Given the description of an element on the screen output the (x, y) to click on. 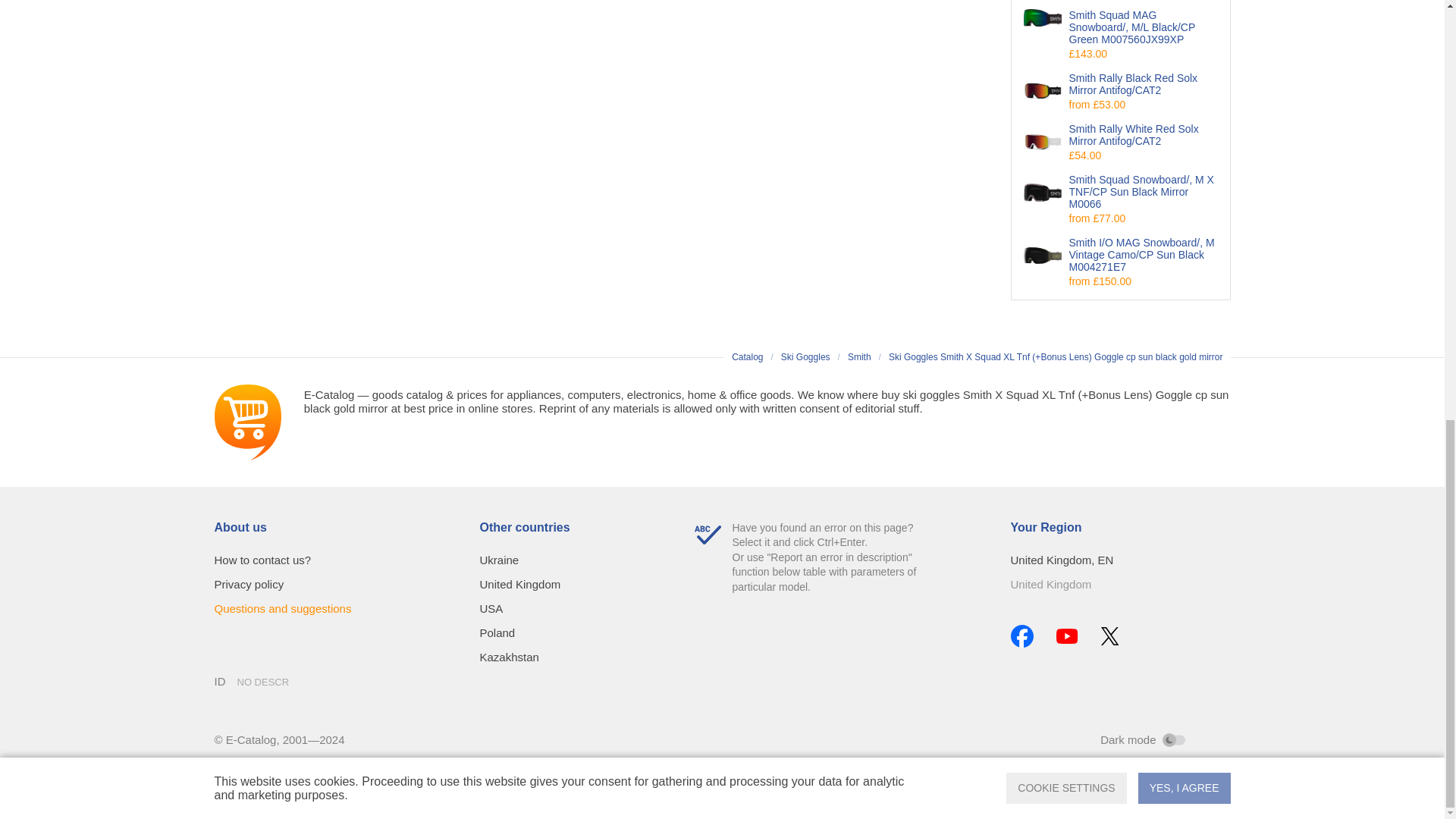
YouTube (1066, 635)
Facebook (1021, 635)
